Given the description of an element on the screen output the (x, y) to click on. 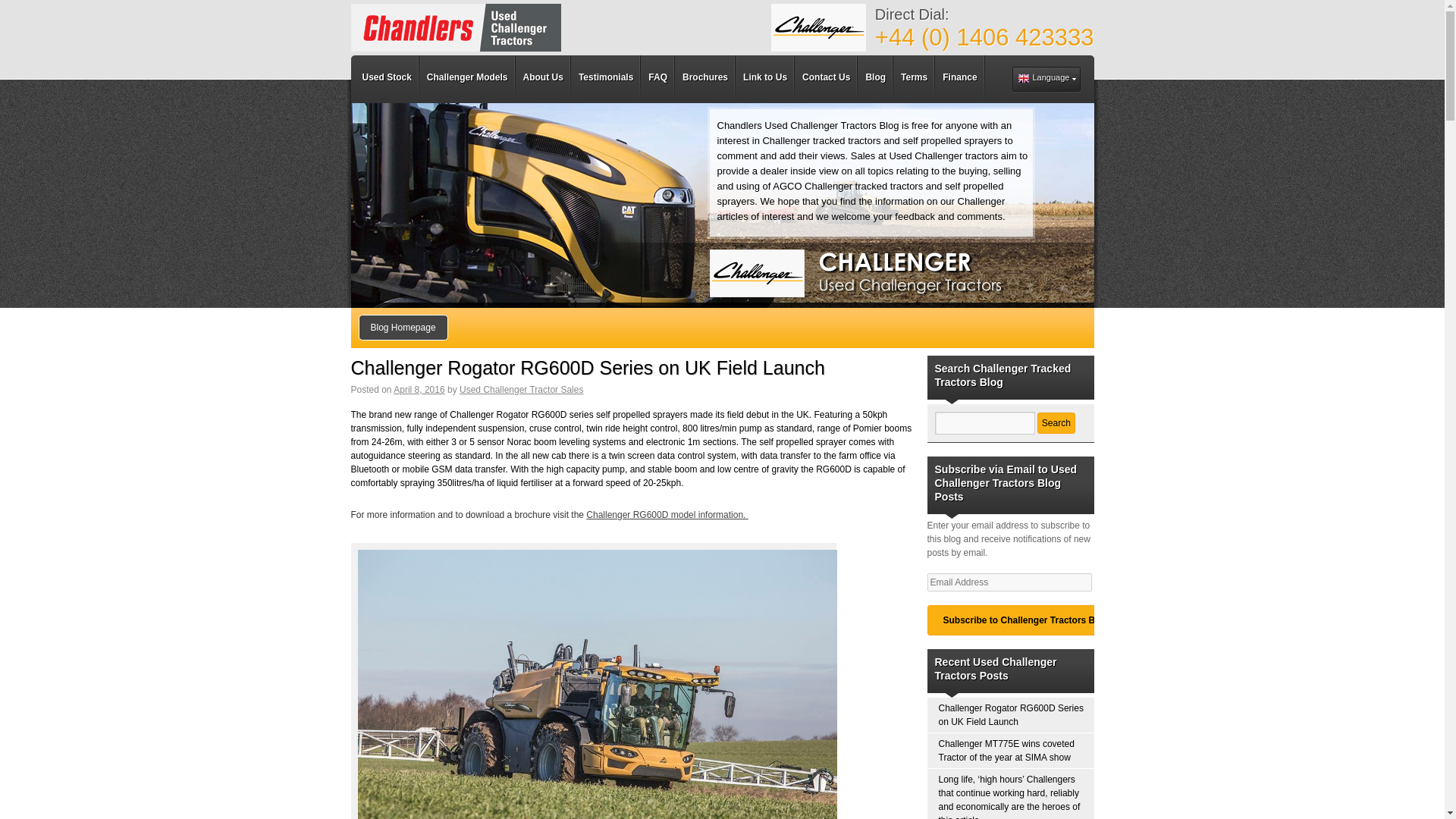
Challenger RG600D model information.  (667, 514)
2:49 pm (418, 388)
Testimonials (605, 79)
View all posts by Used Challenger Tractor Sales (521, 388)
Link to Us (764, 79)
Brochures (705, 79)
Subscribe to Challenger Tractors Blog (1025, 620)
Used Challenger Tractors For Sale (455, 27)
Used Stock (387, 79)
April 8, 2016 (418, 388)
